Given the description of an element on the screen output the (x, y) to click on. 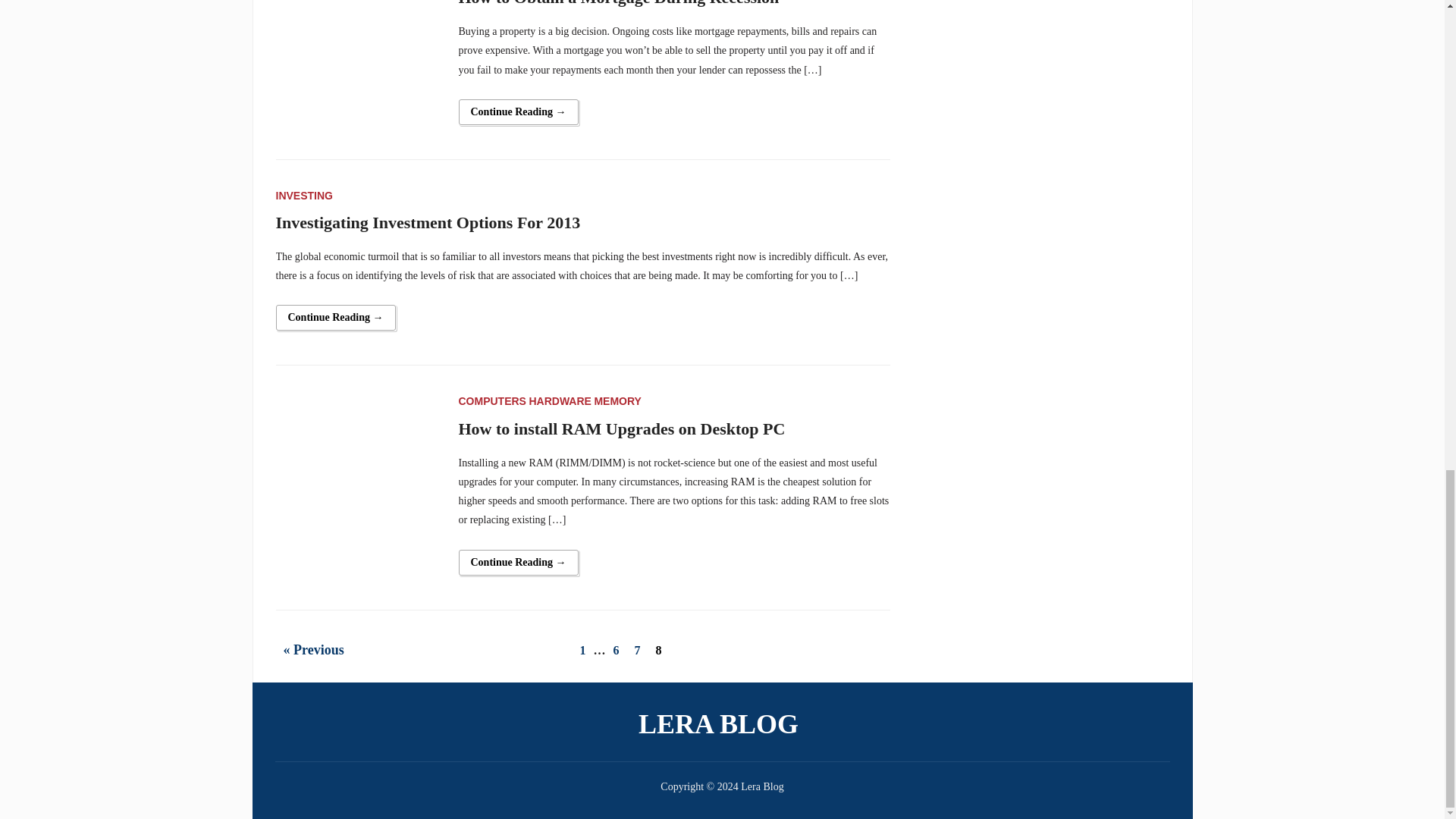
Permalink to Investigating Investment Options For 2013 (336, 317)
Permalink to How to Obtain a Mortgage During Recession (518, 112)
How to Obtain a Mortgage During Recession (357, 41)
Permalink to How to install RAM Upgrades on Desktop PC (518, 562)
How to install RAM Upgrades on Desktop PC (357, 473)
